Given the description of an element on the screen output the (x, y) to click on. 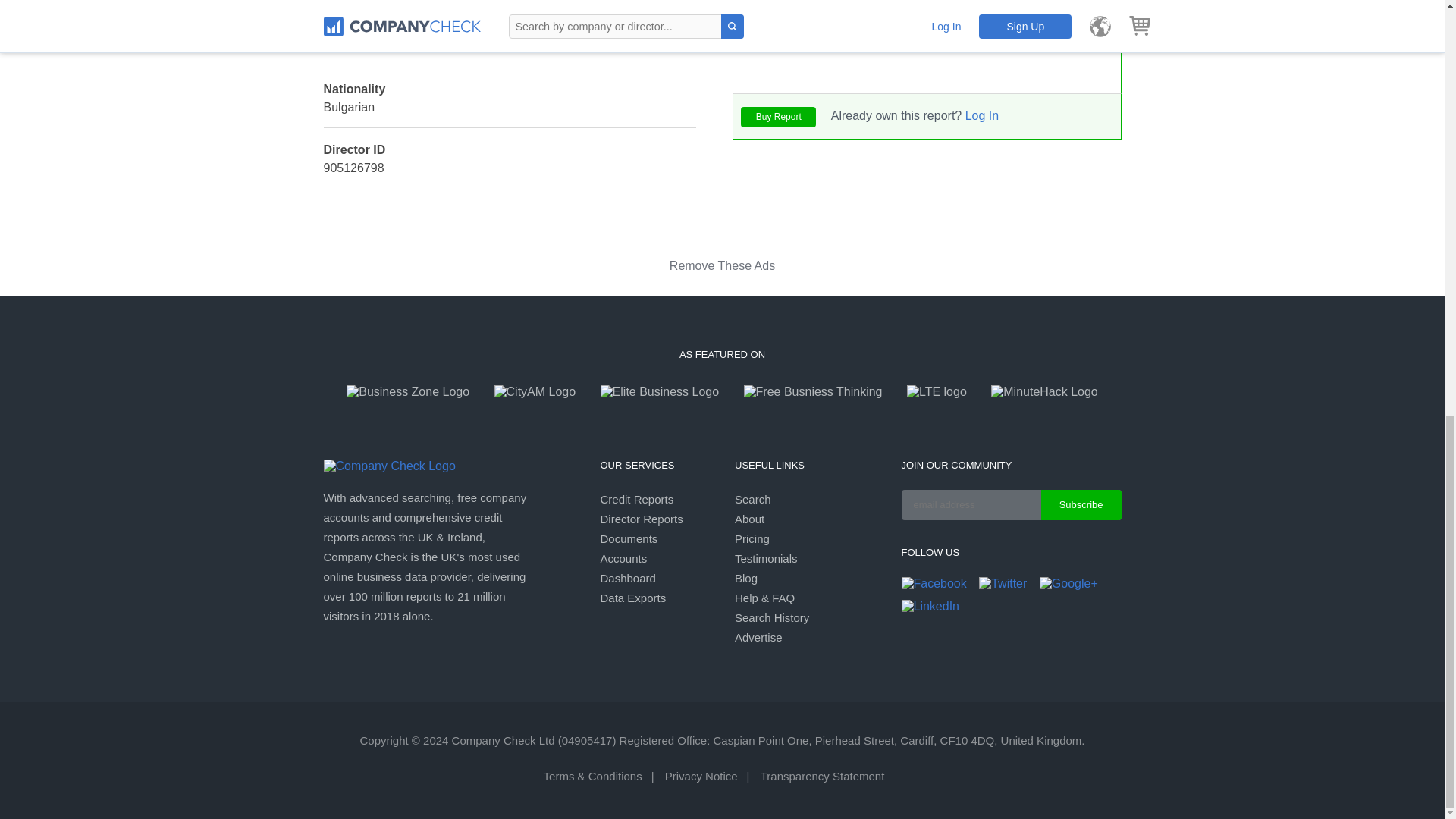
Subscribe (1081, 504)
